Given the description of an element on the screen output the (x, y) to click on. 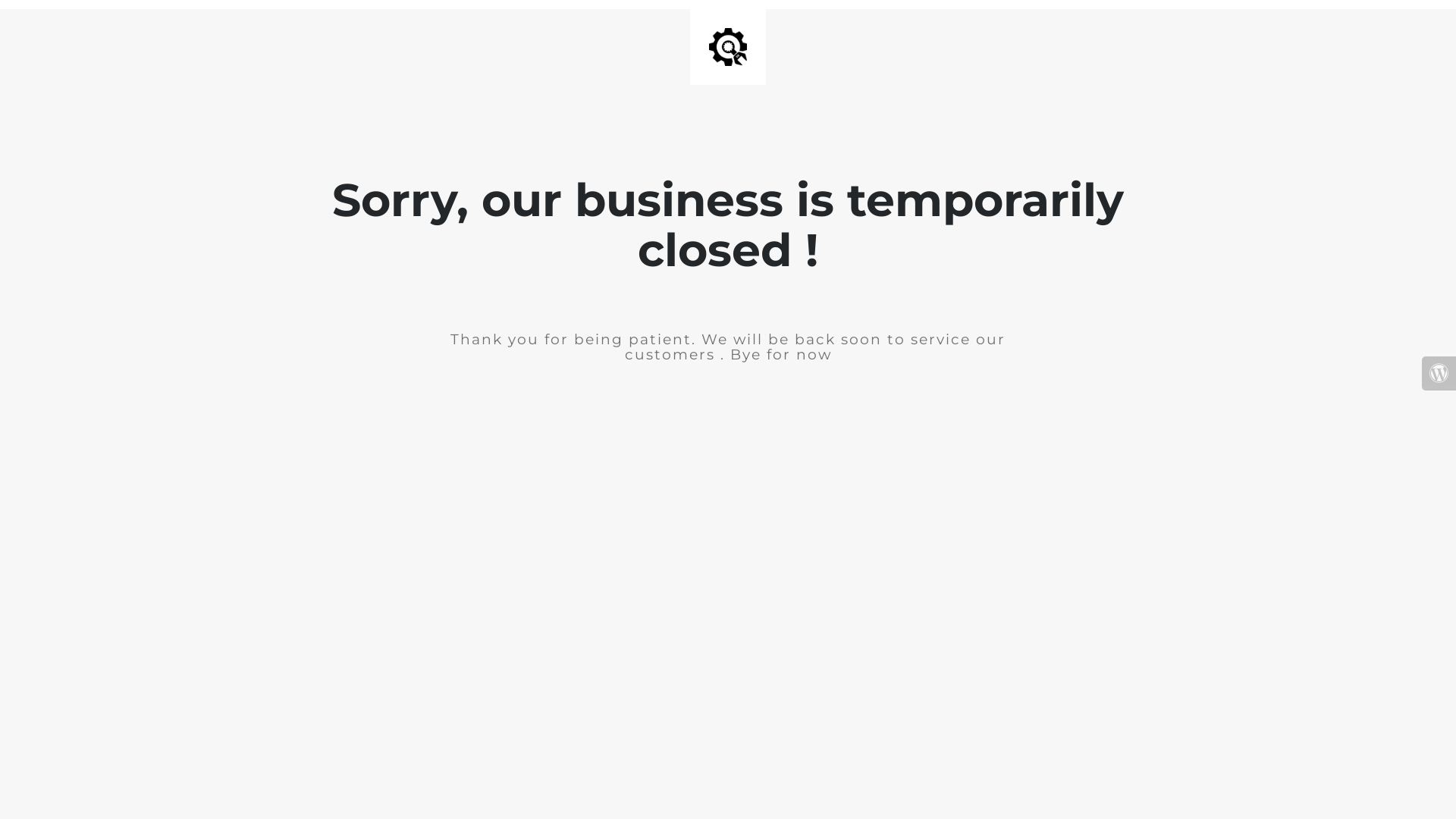
Site is Under Construction Element type: hover (727, 46)
